Given the description of an element on the screen output the (x, y) to click on. 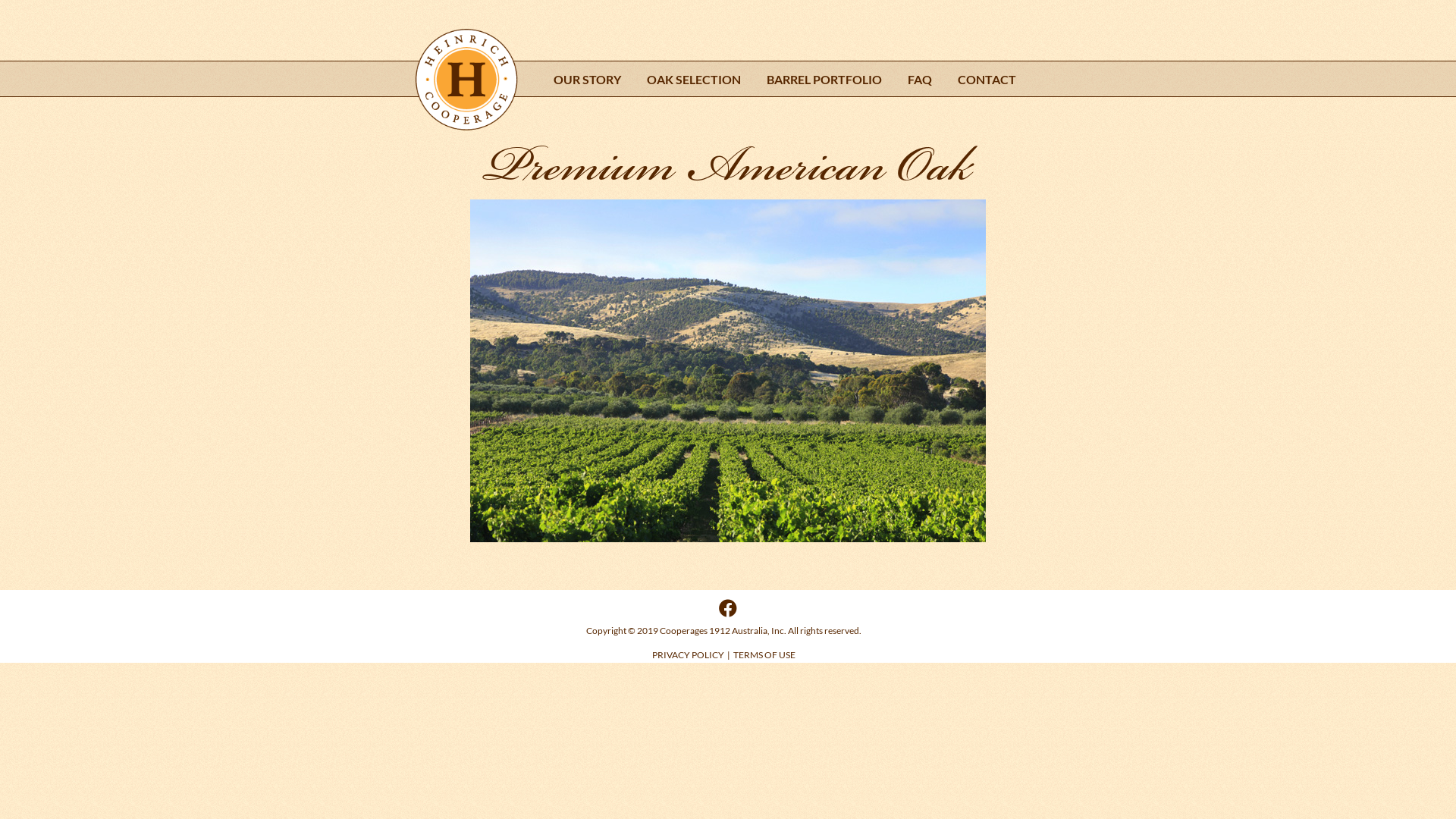
BARREL PORTFOLIO Element type: text (823, 79)
TERMS OF USE Element type: text (763, 654)
OUR STORY Element type: text (586, 79)
FAQ Element type: text (919, 79)
PRIVACY POLICY Element type: text (688, 654)
OAK SELECTION Element type: text (693, 79)
CONTACT Element type: text (986, 79)
